Given the description of an element on the screen output the (x, y) to click on. 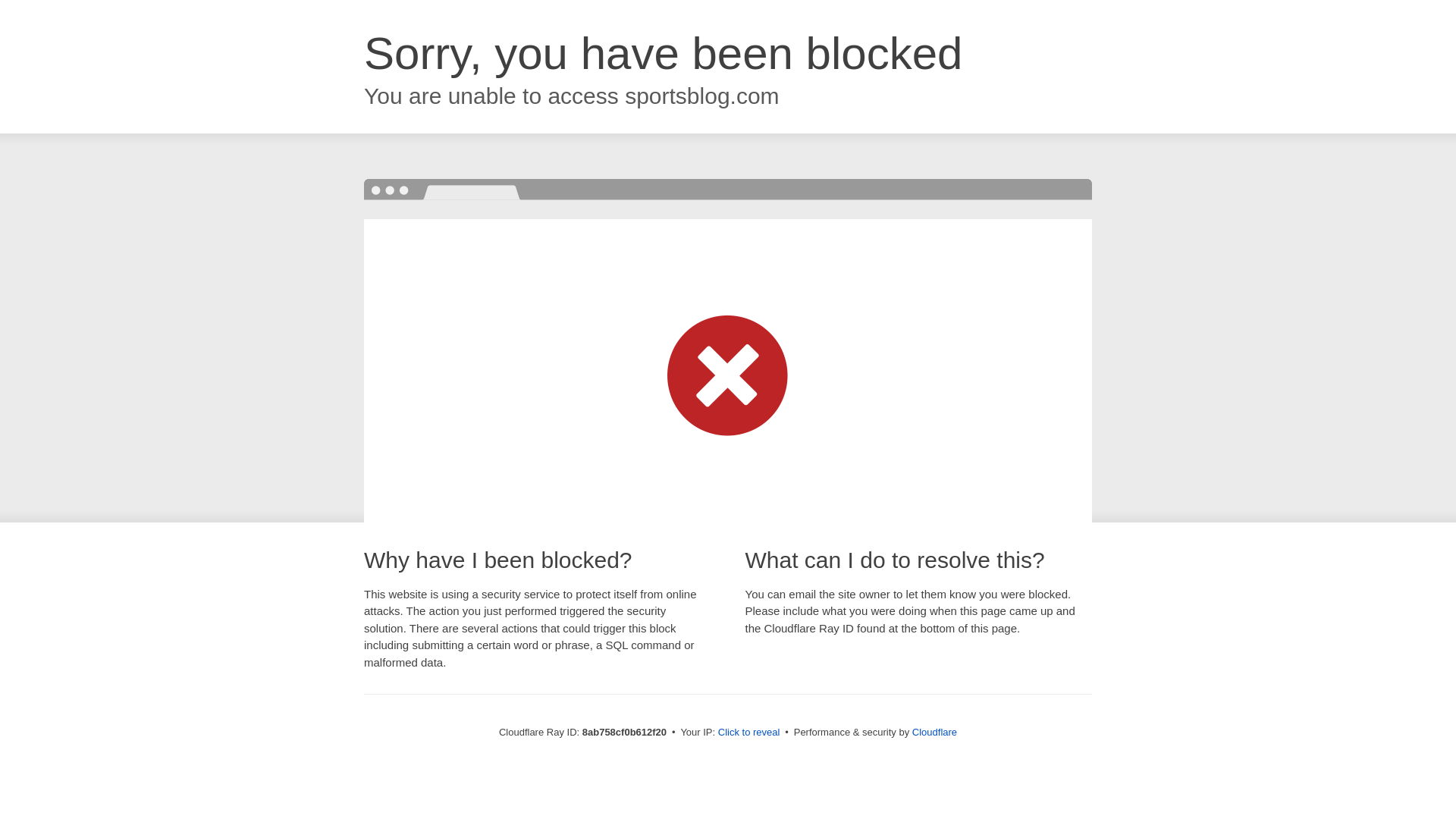
Click to reveal (748, 732)
Cloudflare (934, 731)
